Given the description of an element on the screen output the (x, y) to click on. 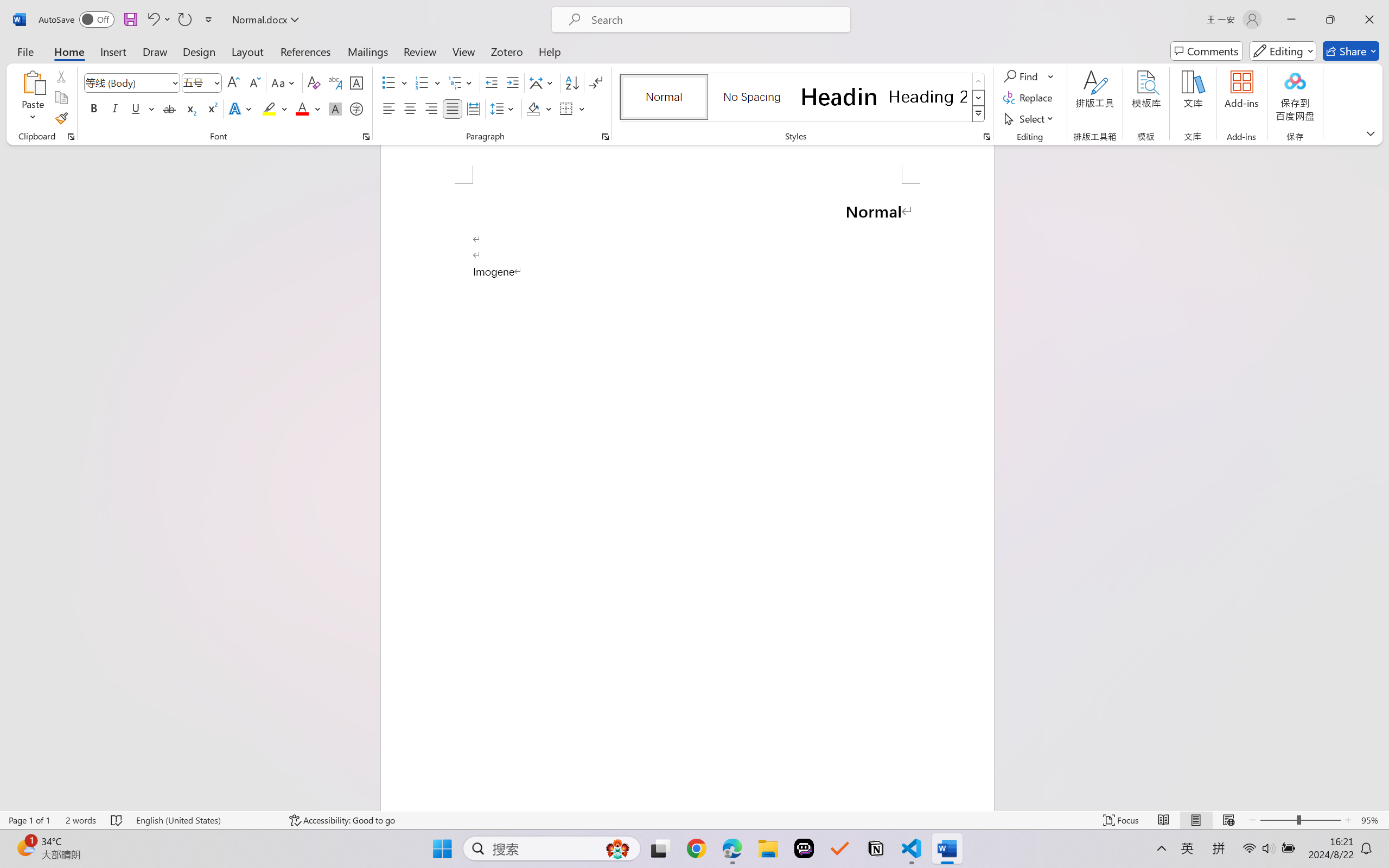
Class: NetUIScrollBar (1382, 477)
Text Highlight Color (274, 108)
Show/Hide Editing Marks (595, 82)
Sort... (571, 82)
Increase Indent (512, 82)
Decrease Indent (491, 82)
Change Case (284, 82)
Text Effects and Typography (241, 108)
